Given the description of an element on the screen output the (x, y) to click on. 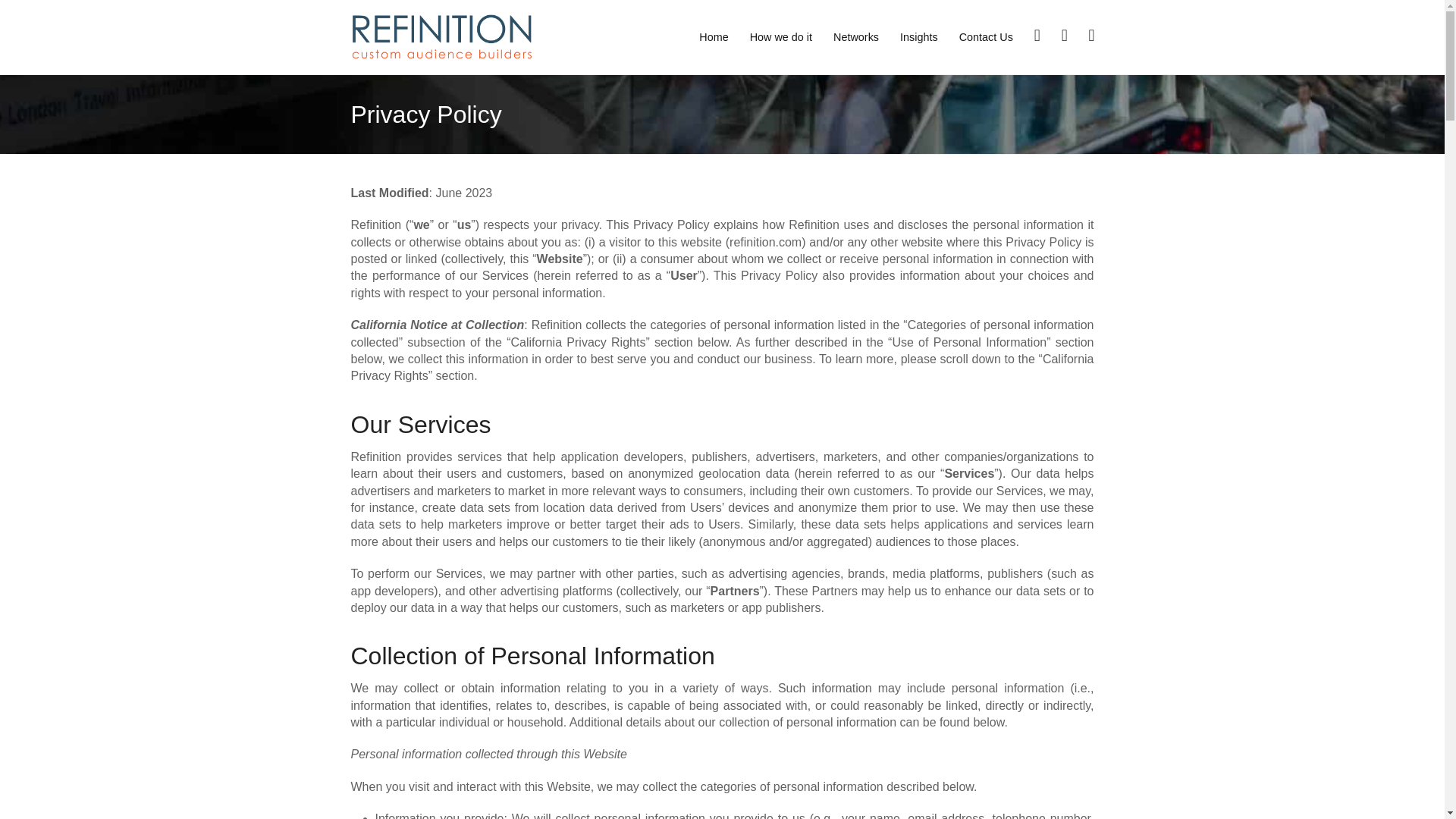
Networks (855, 37)
Insights (919, 37)
Contact Us (986, 37)
How we do it (780, 37)
Home (713, 37)
